Given the description of an element on the screen output the (x, y) to click on. 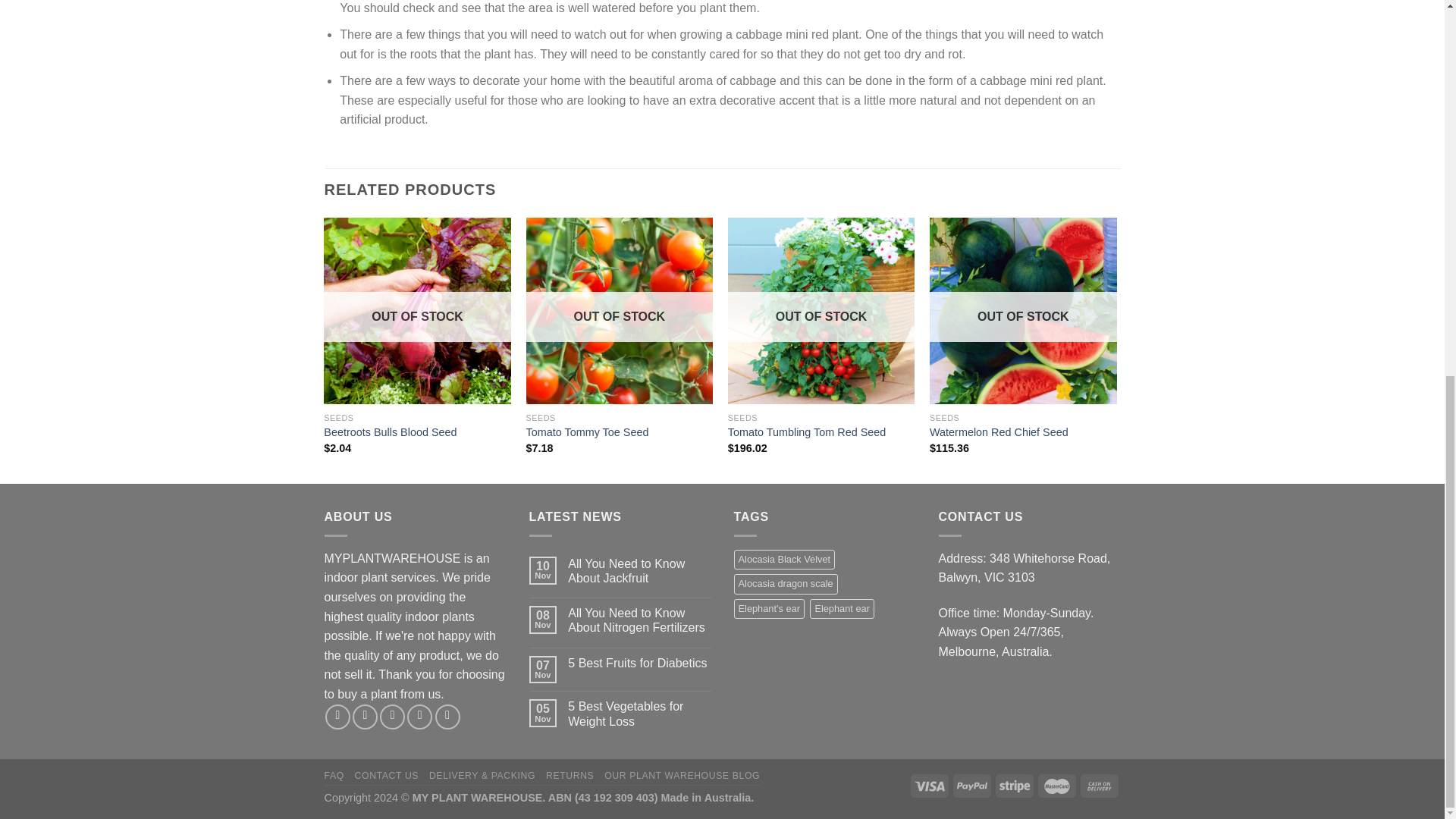
5 Best Vegetables for Weight Loss (638, 713)
All You Need to Know About Nitrogen Fertilizers (638, 620)
All You Need to Know About Jackfruit (638, 570)
5 Best Fruits for Diabetics (638, 663)
